Given the description of an element on the screen output the (x, y) to click on. 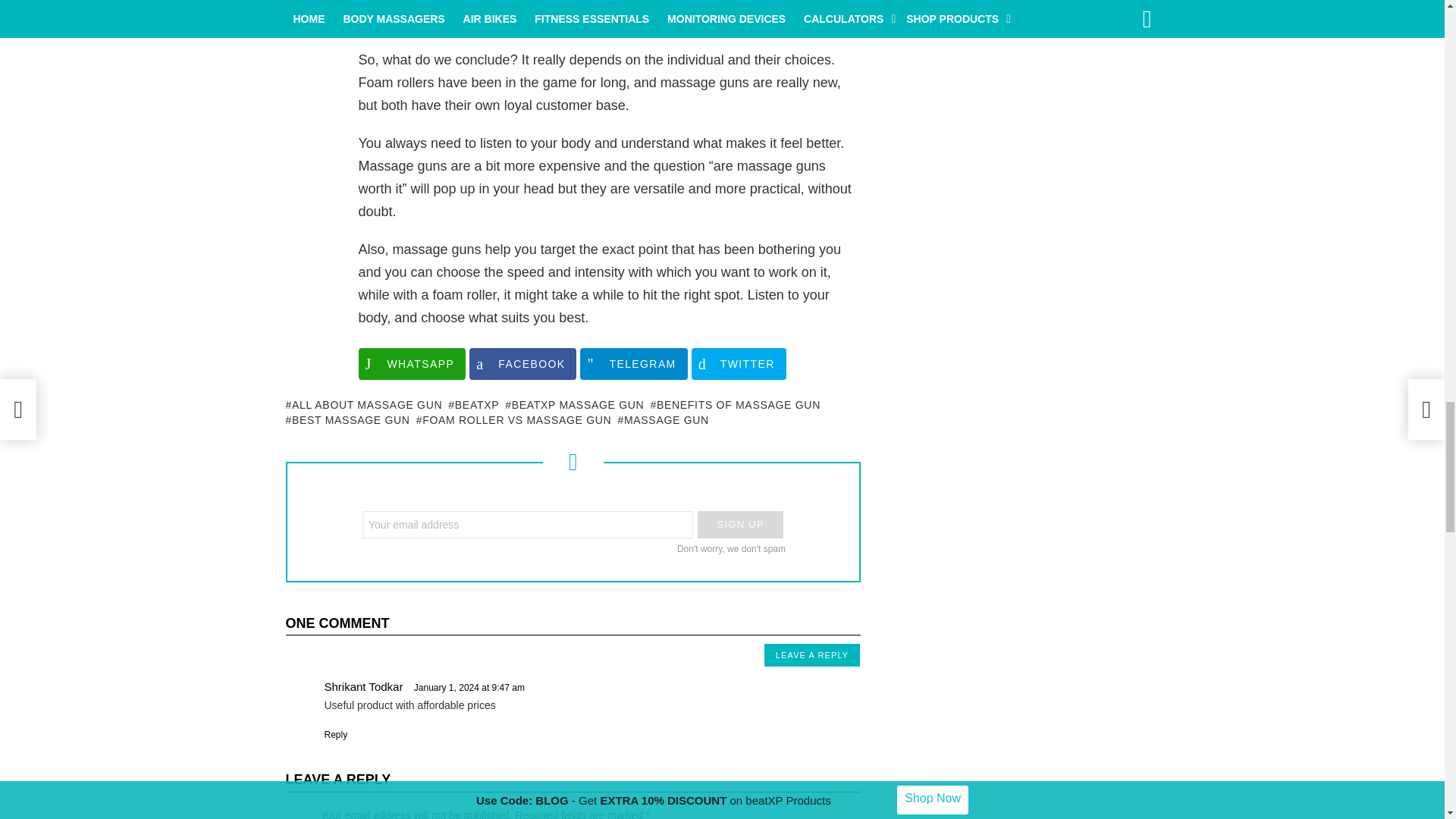
Sign up (740, 524)
Share on Twitter (738, 364)
Share on WhatsApp (411, 364)
Share on Facebook (522, 364)
FACEBOOK (522, 364)
Share on Telegram (633, 364)
WHATSAPP (411, 364)
TELEGRAM (633, 364)
